Given the description of an element on the screen output the (x, y) to click on. 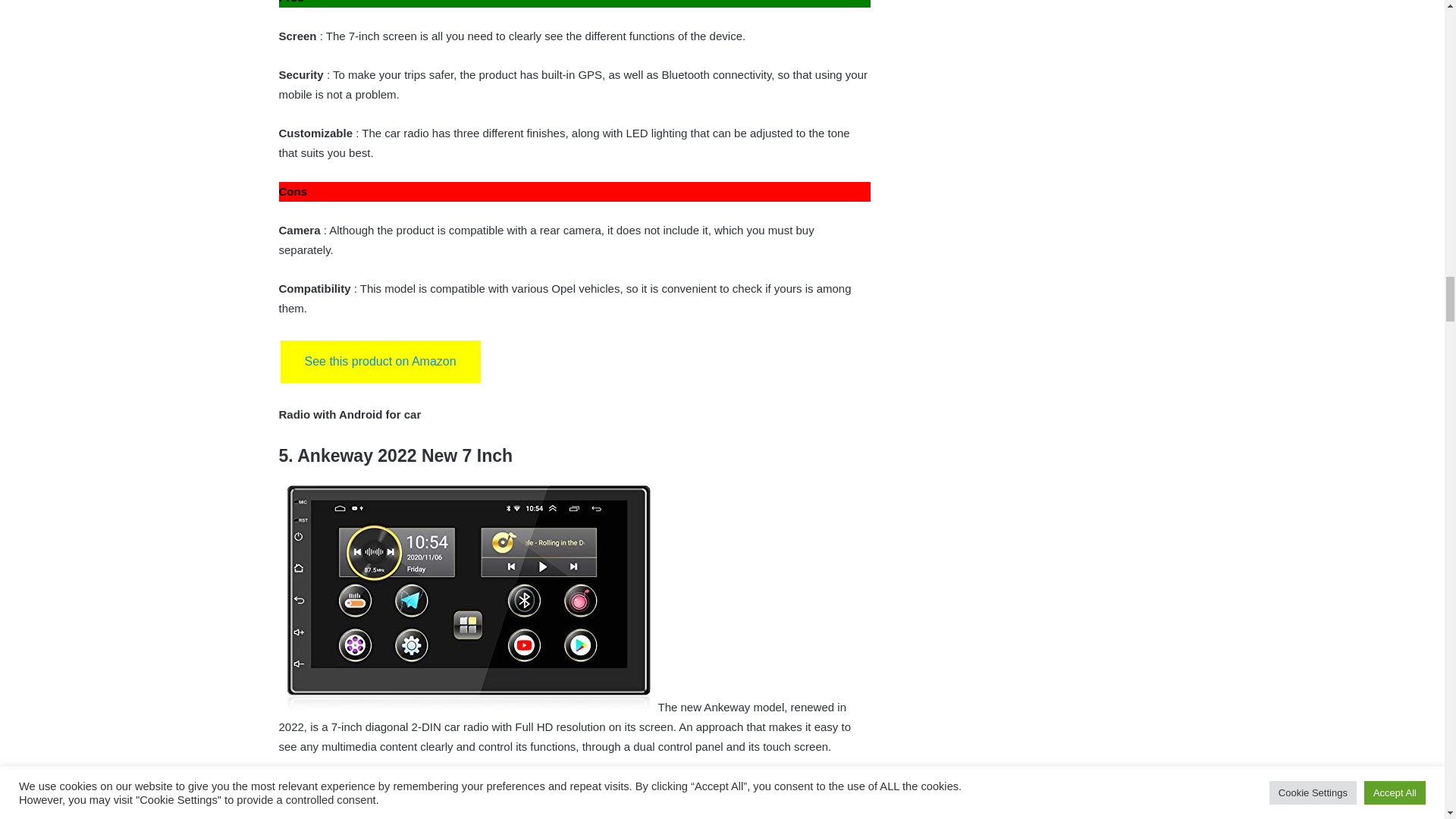
See this product on Amazon (380, 361)
